Given the description of an element on the screen output the (x, y) to click on. 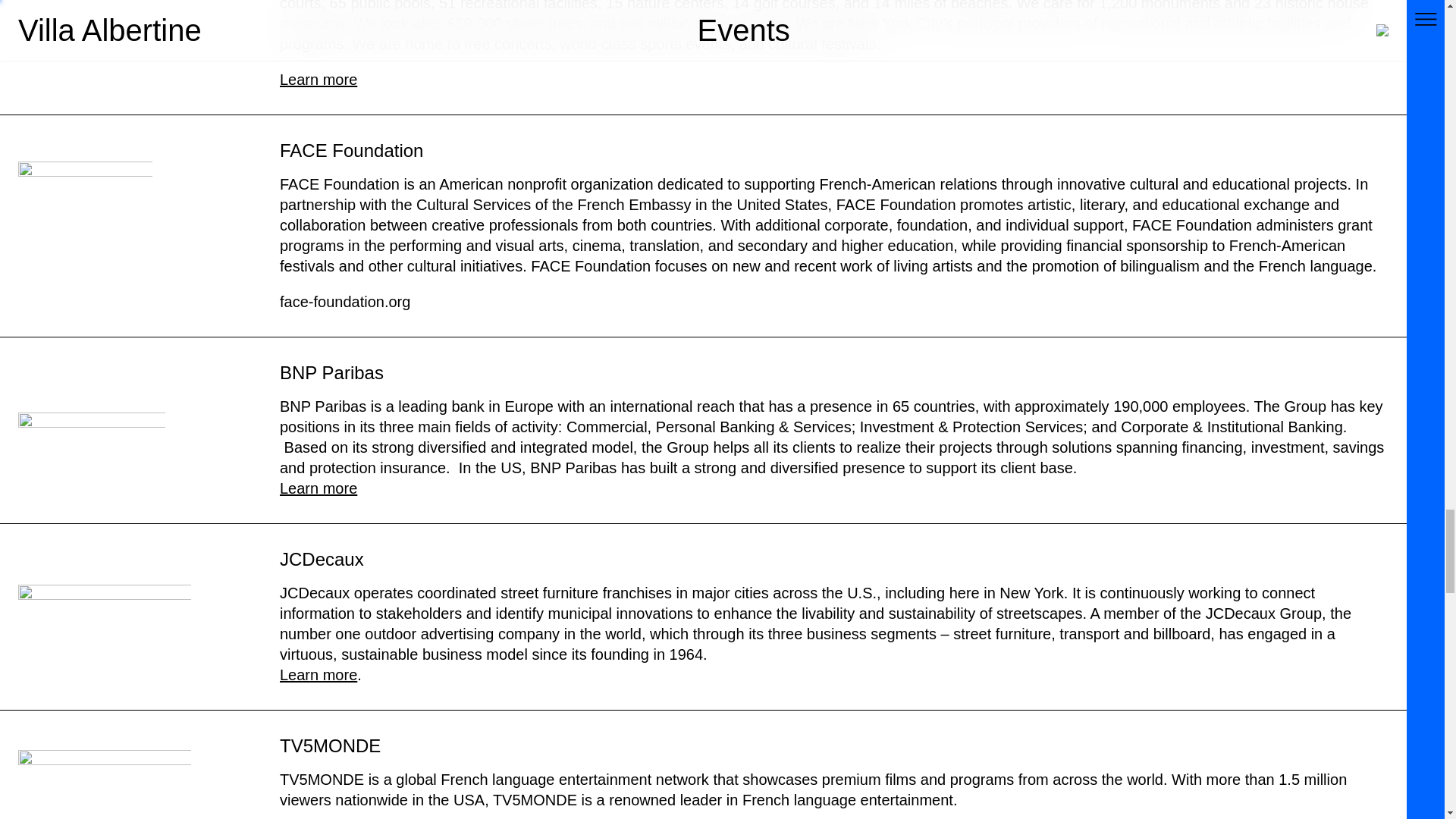
Learn more (317, 674)
Learn more (317, 79)
face-foundation.org  (346, 301)
Learn more (317, 487)
